Given the description of an element on the screen output the (x, y) to click on. 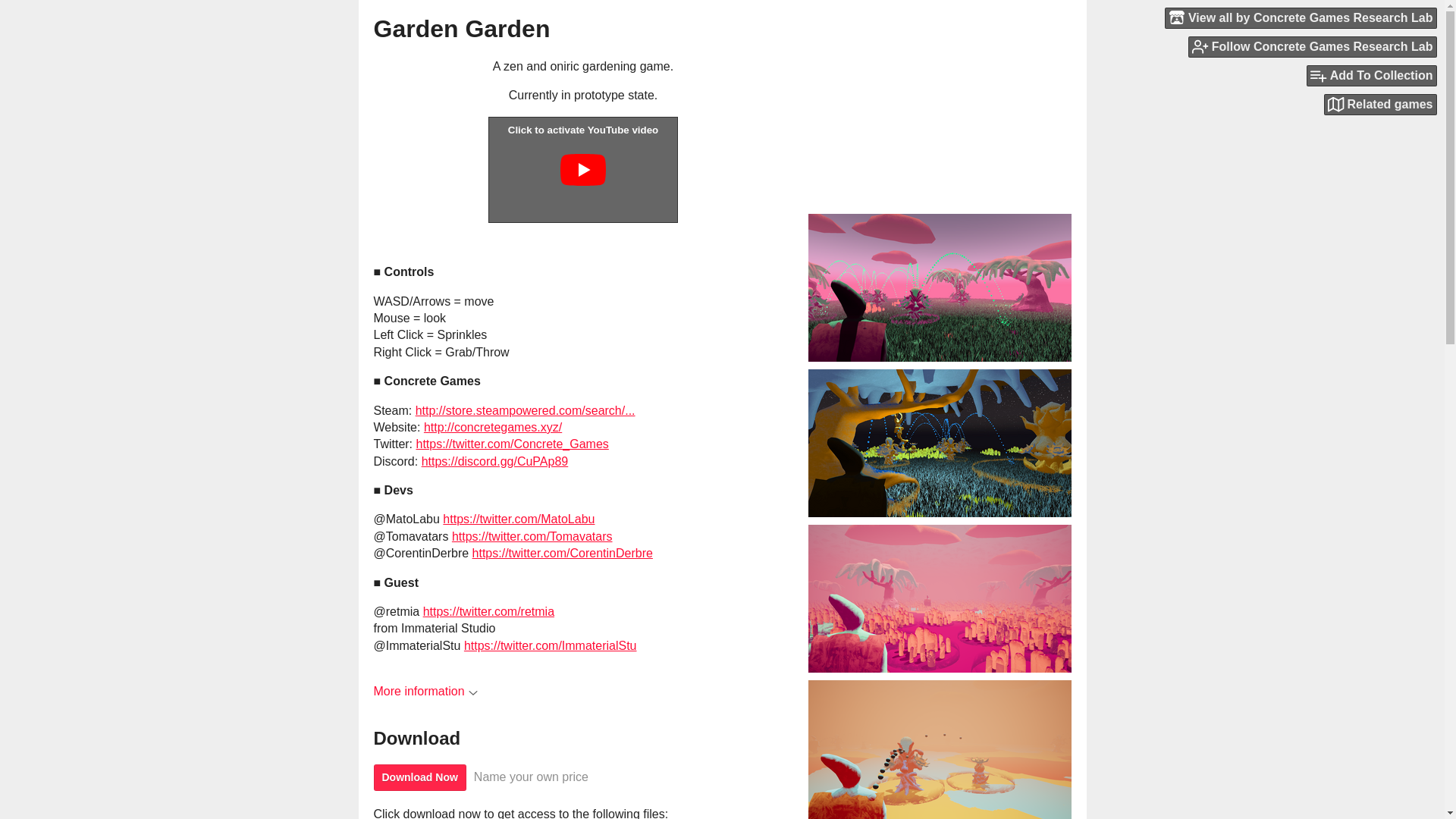
Download Now (418, 777)
Related games (1380, 104)
View all by Concrete Games Research Lab (1300, 17)
Add To Collection (1371, 75)
Follow Concrete Games Research Lab (1312, 46)
More information (424, 690)
